Given the description of an element on the screen output the (x, y) to click on. 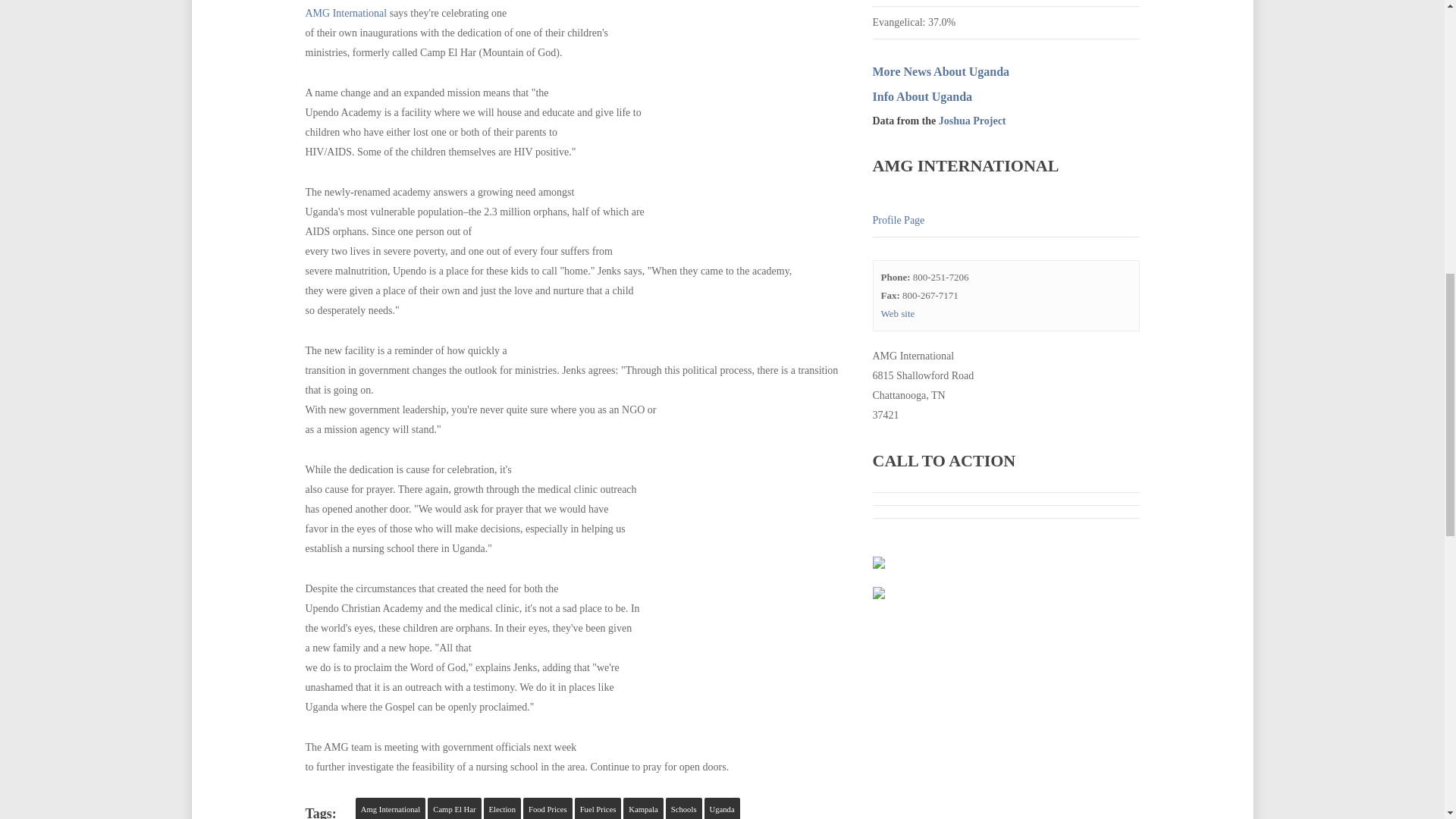
Uganda (721, 808)
Election (502, 808)
Fuel Prices (598, 808)
Camp El Har (454, 808)
Schools (683, 808)
Amg International (390, 808)
Food Prices (547, 808)
Kampala (642, 808)
AMG International (345, 12)
